Given the description of an element on the screen output the (x, y) to click on. 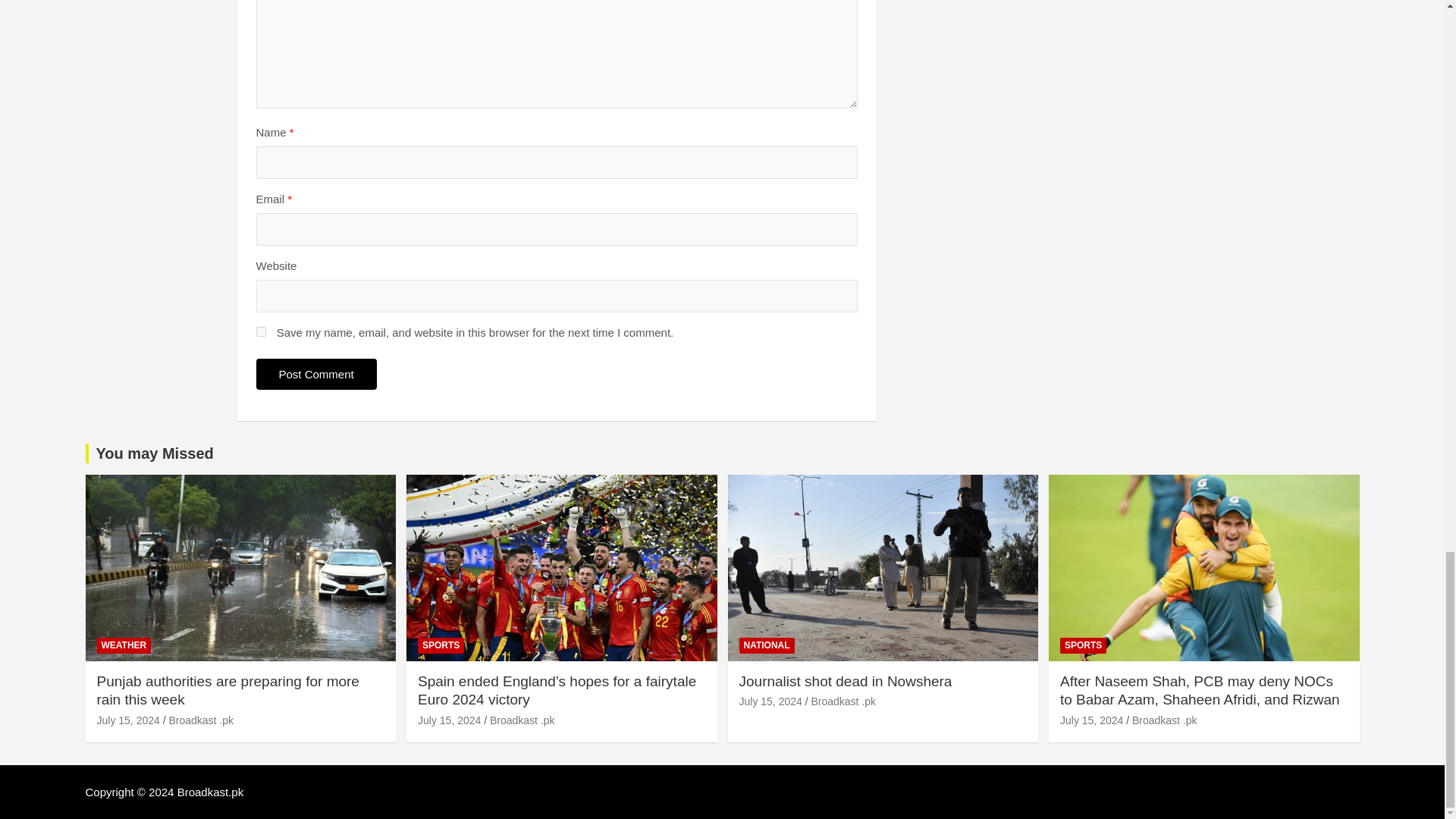
yes (261, 331)
Journalist shot dead in Nowshera (770, 701)
Post Comment (316, 373)
Broadkast.pk (210, 791)
Punjab authorities are preparing for more rain this week (128, 720)
Post Comment (316, 373)
